Given the description of an element on the screen output the (x, y) to click on. 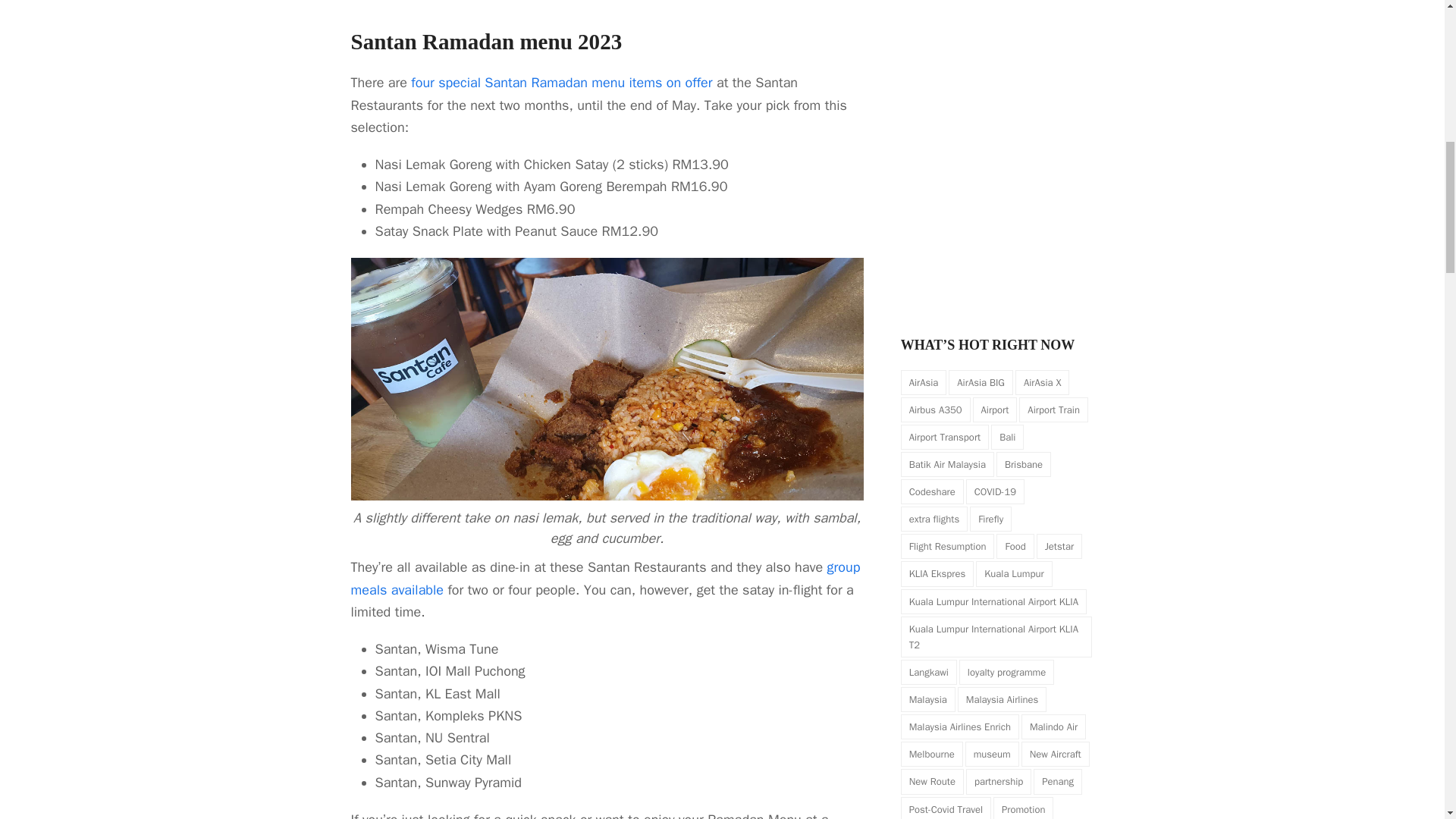
four special Santan Ramadan menu items on offer (560, 82)
group meals available (605, 577)
